Given the description of an element on the screen output the (x, y) to click on. 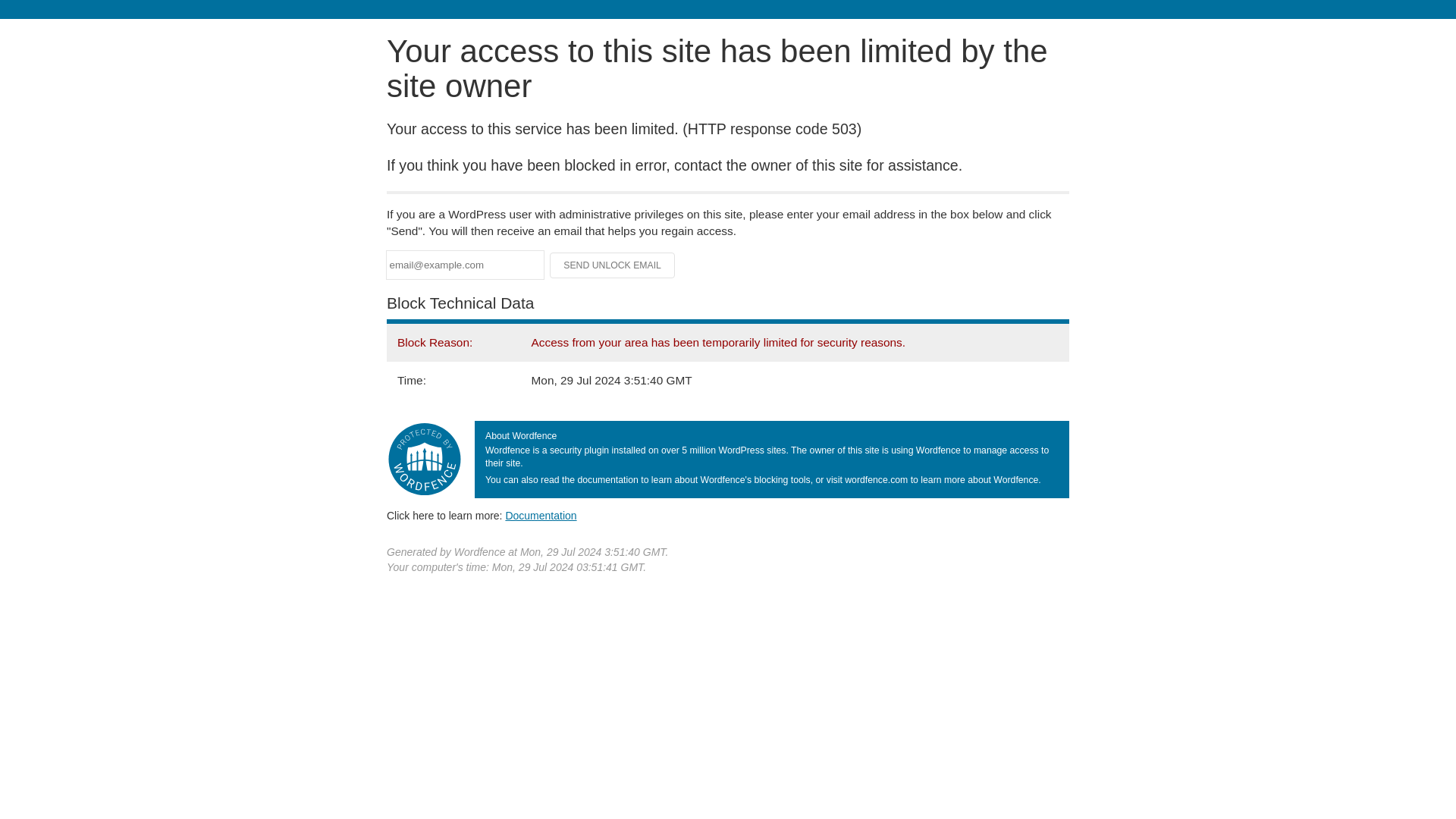
Send Unlock Email (612, 265)
Documentation (540, 515)
Send Unlock Email (612, 265)
